Given the description of an element on the screen output the (x, y) to click on. 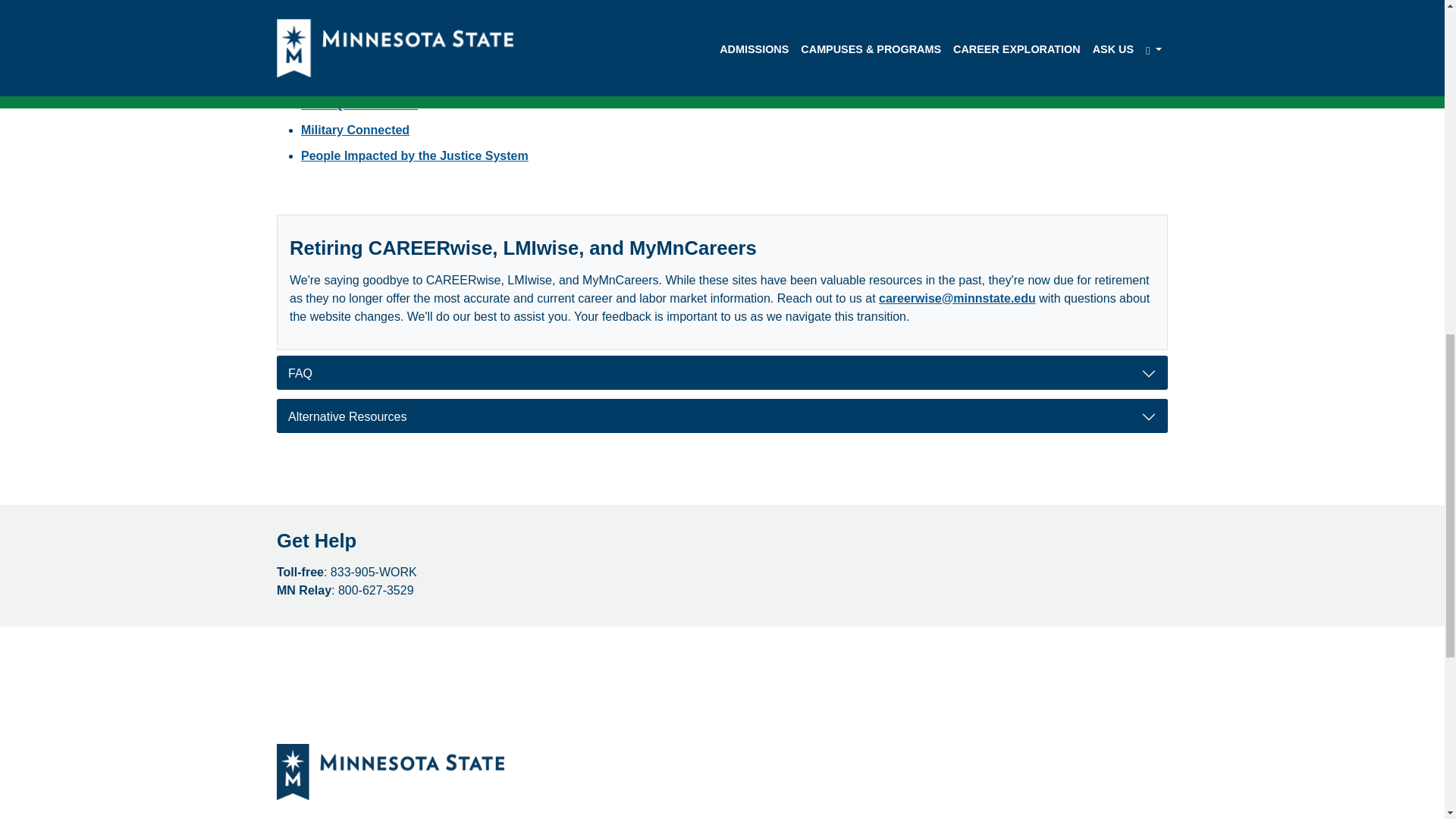
Military Connected (355, 129)
International Students (365, 78)
People Impacted by the Justice System (414, 155)
Adult Learners (344, 51)
Alternative Resources (721, 415)
FAQ (721, 372)
